Given the description of an element on the screen output the (x, y) to click on. 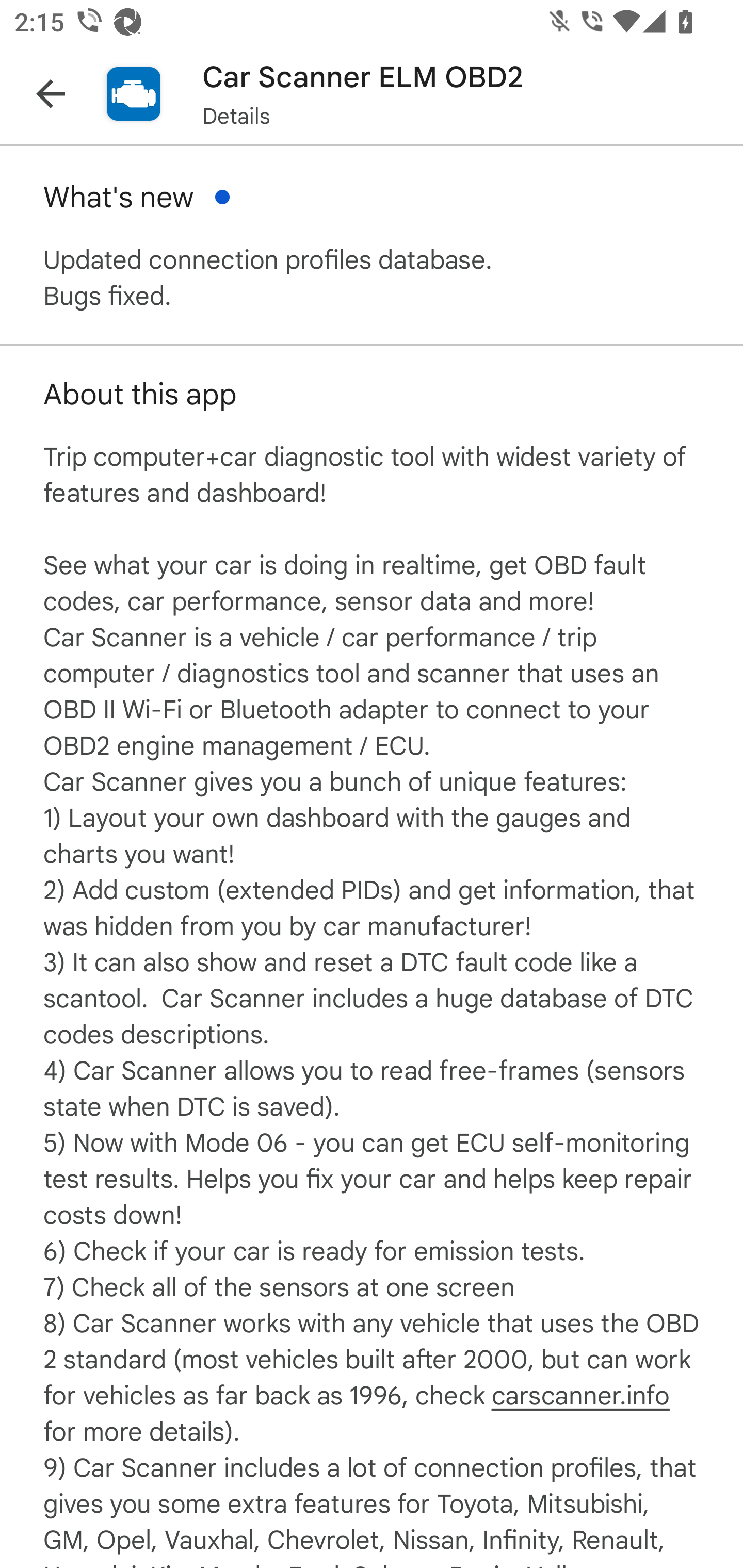
Navigate up (50, 93)
